Given the description of an element on the screen output the (x, y) to click on. 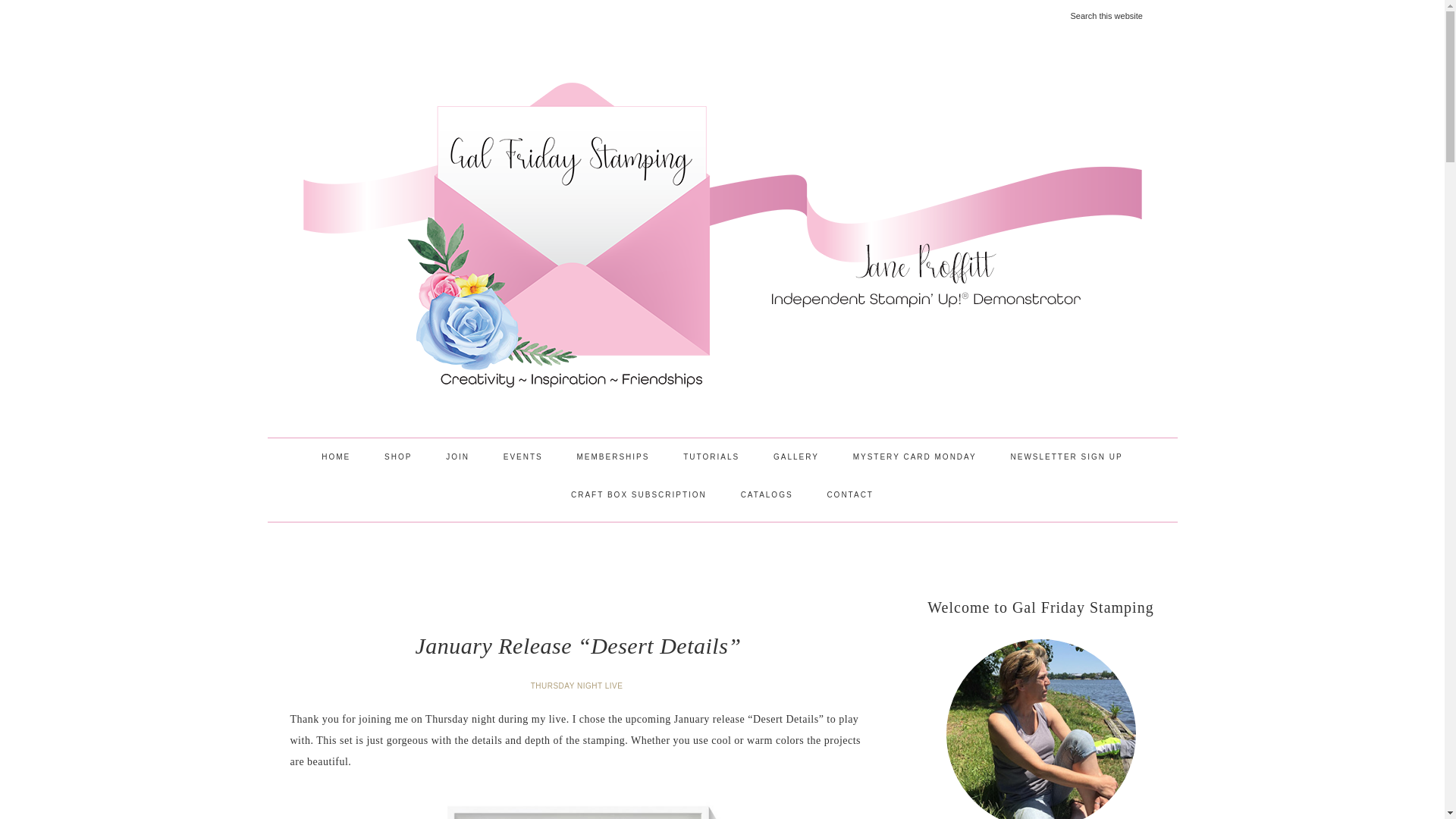
MEMBERSHIPS (613, 456)
CATALOGS (766, 494)
HOME (335, 456)
CONTACT (849, 494)
MYSTERY CARD MONDAY (914, 456)
EVENTS (522, 456)
SHOP (397, 456)
CRAFT BOX SUBSCRIPTION (639, 494)
JOIN (457, 456)
THURSDAY NIGHT LIVE (577, 685)
TUTORIALS (711, 456)
GALLERY (796, 456)
NEWSLETTER SIGN UP (1065, 456)
